Given the description of an element on the screen output the (x, y) to click on. 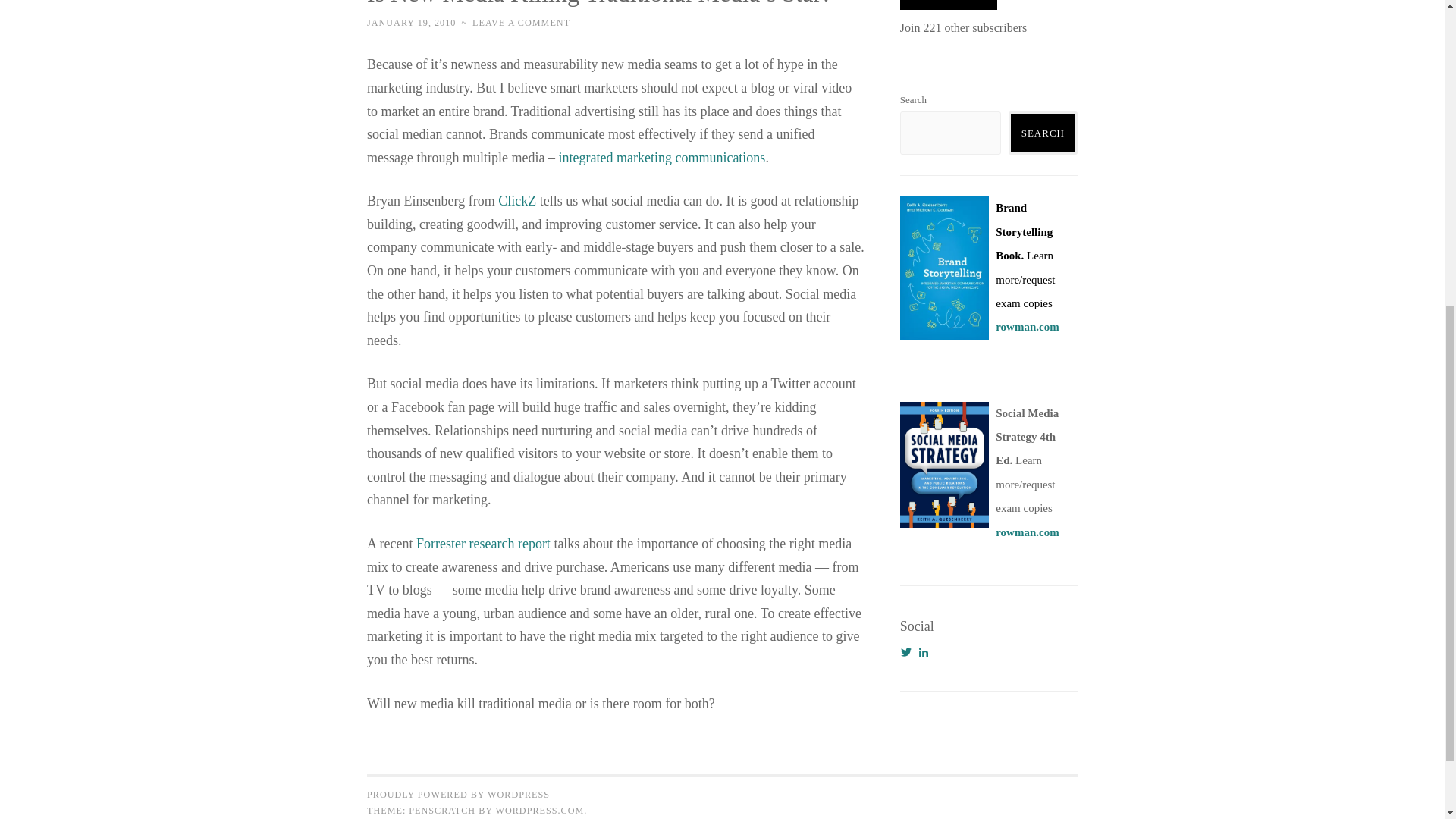
rowman.com (1026, 532)
LEAVE A COMMENT (520, 22)
SEARCH (1043, 132)
JANUARY 19, 2010 (410, 22)
WORDPRESS.COM (539, 810)
PROUDLY POWERED BY WORDPRESS (458, 794)
ClickZ (516, 200)
SUBSCRIBE (948, 4)
Forrester research report (483, 543)
rowman.com (1026, 326)
integrated marketing communications (661, 157)
